Given the description of an element on the screen output the (x, y) to click on. 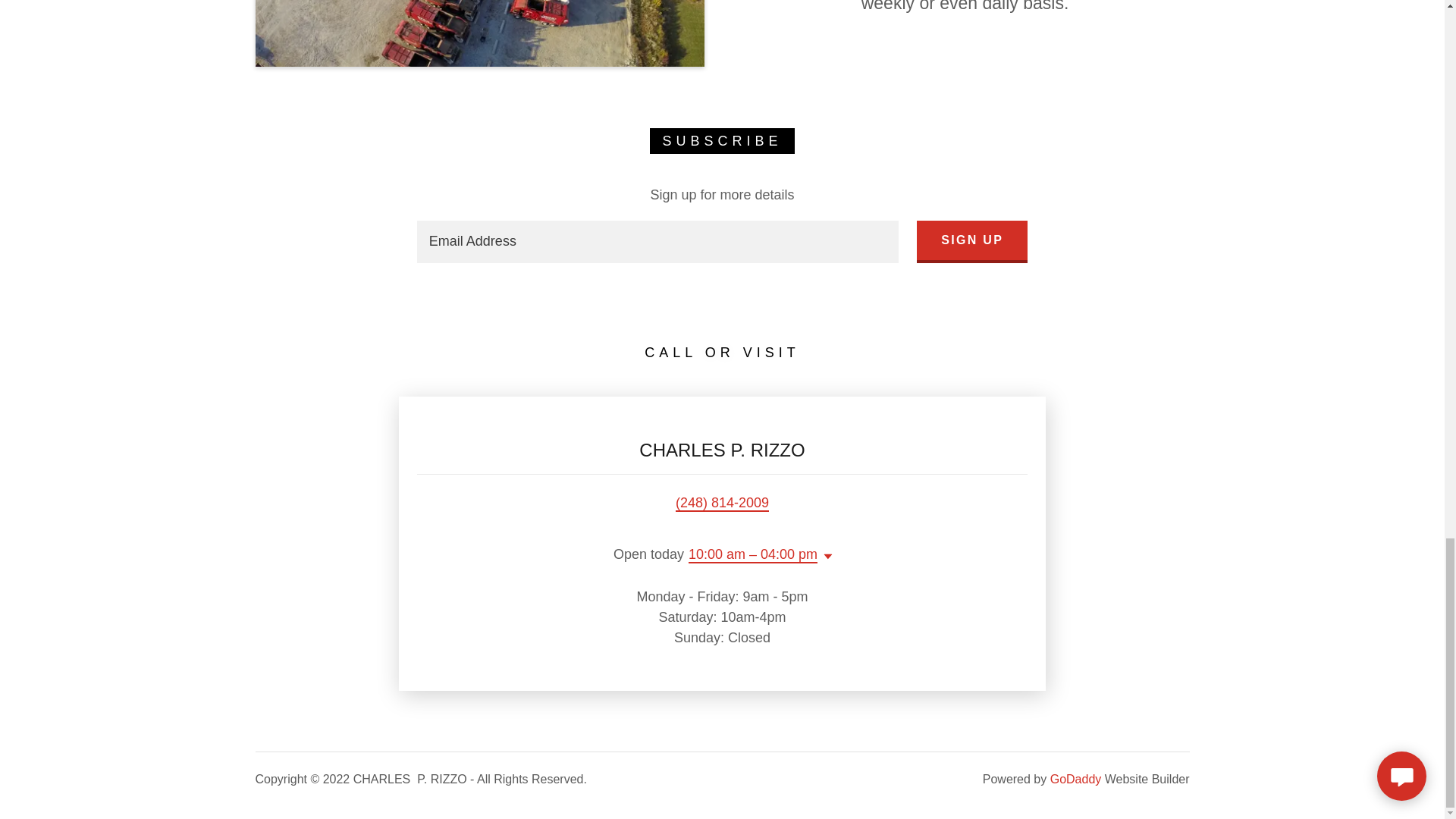
SIGN UP (972, 241)
GoDaddy (1075, 779)
